Given the description of an element on the screen output the (x, y) to click on. 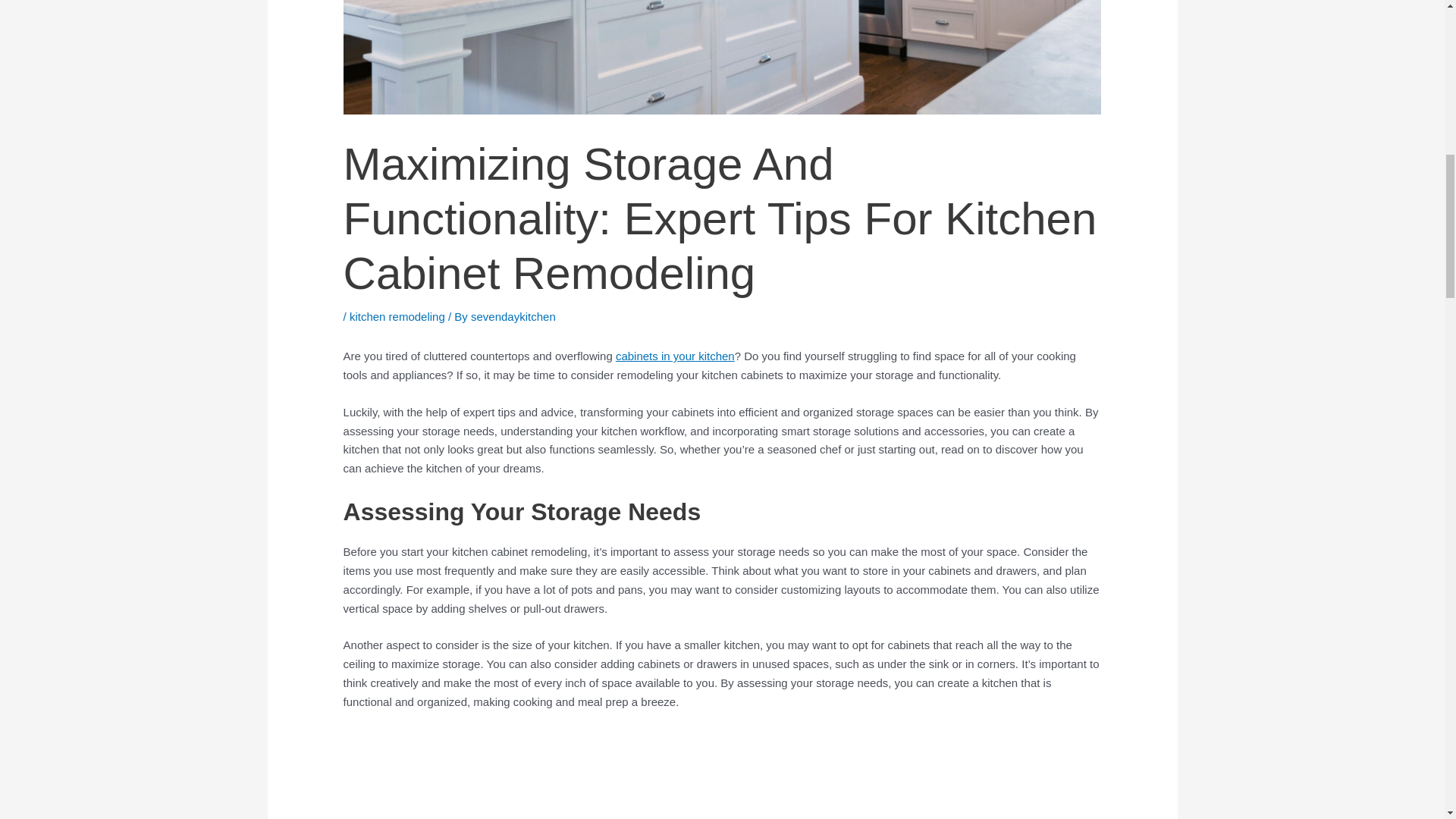
cabinets in your kitchen (675, 355)
sevendaykitchen (513, 315)
View all posts by sevendaykitchen (513, 315)
kitchen remodeling (397, 315)
